Given the description of an element on the screen output the (x, y) to click on. 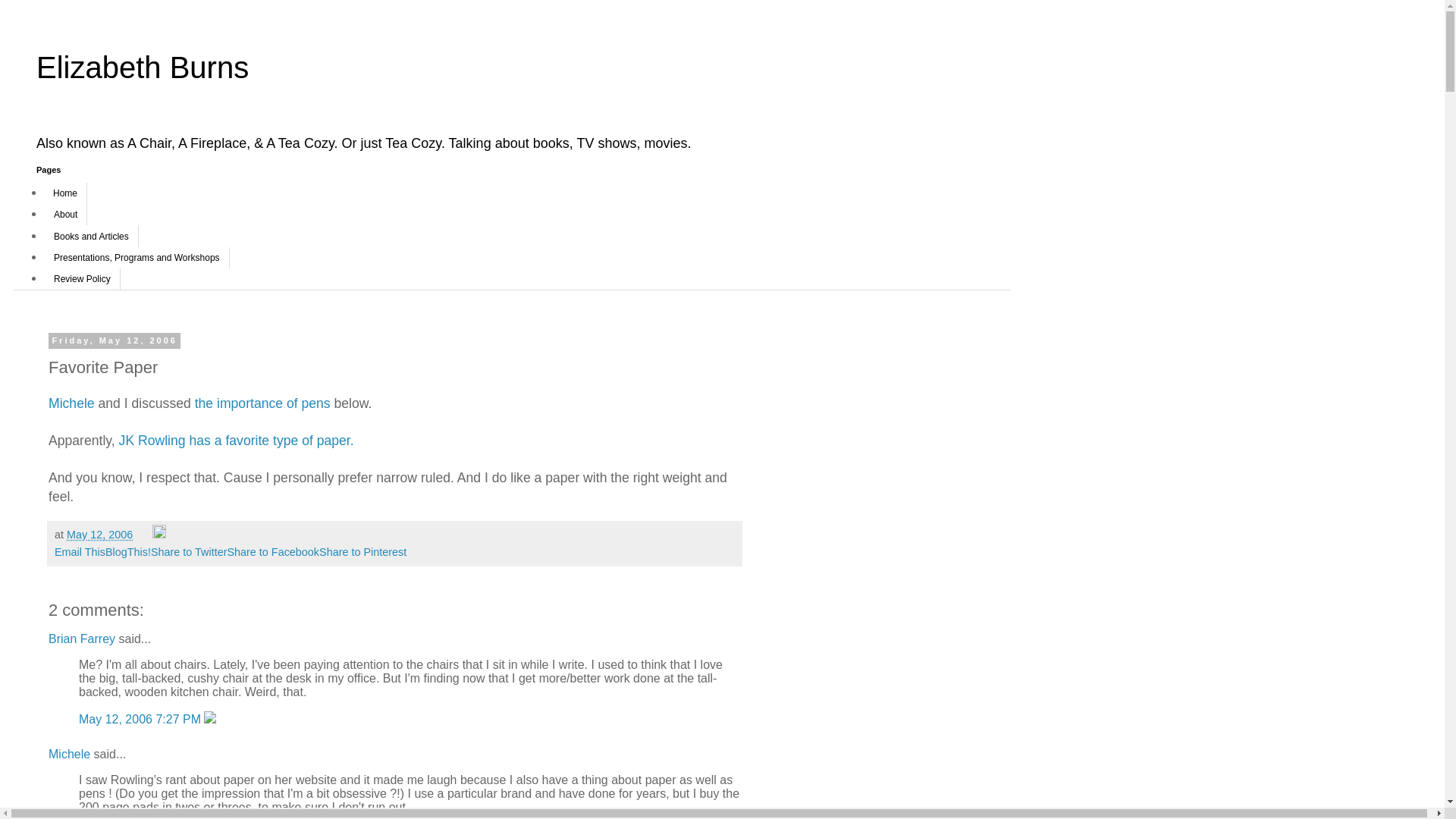
Email Post (143, 534)
BlogThis! (127, 551)
Books and Articles (90, 235)
Review Policy (81, 278)
Share to Pinterest (362, 551)
Delete Comment (209, 718)
Home (65, 192)
Michele (69, 753)
permanent link (99, 534)
the importance of pens (262, 403)
BlogThis! (127, 551)
Brian Farrey (81, 638)
JK Rowling has a favorite type of paper. (236, 440)
Share to Pinterest (362, 551)
Share to Twitter (189, 551)
